Given the description of an element on the screen output the (x, y) to click on. 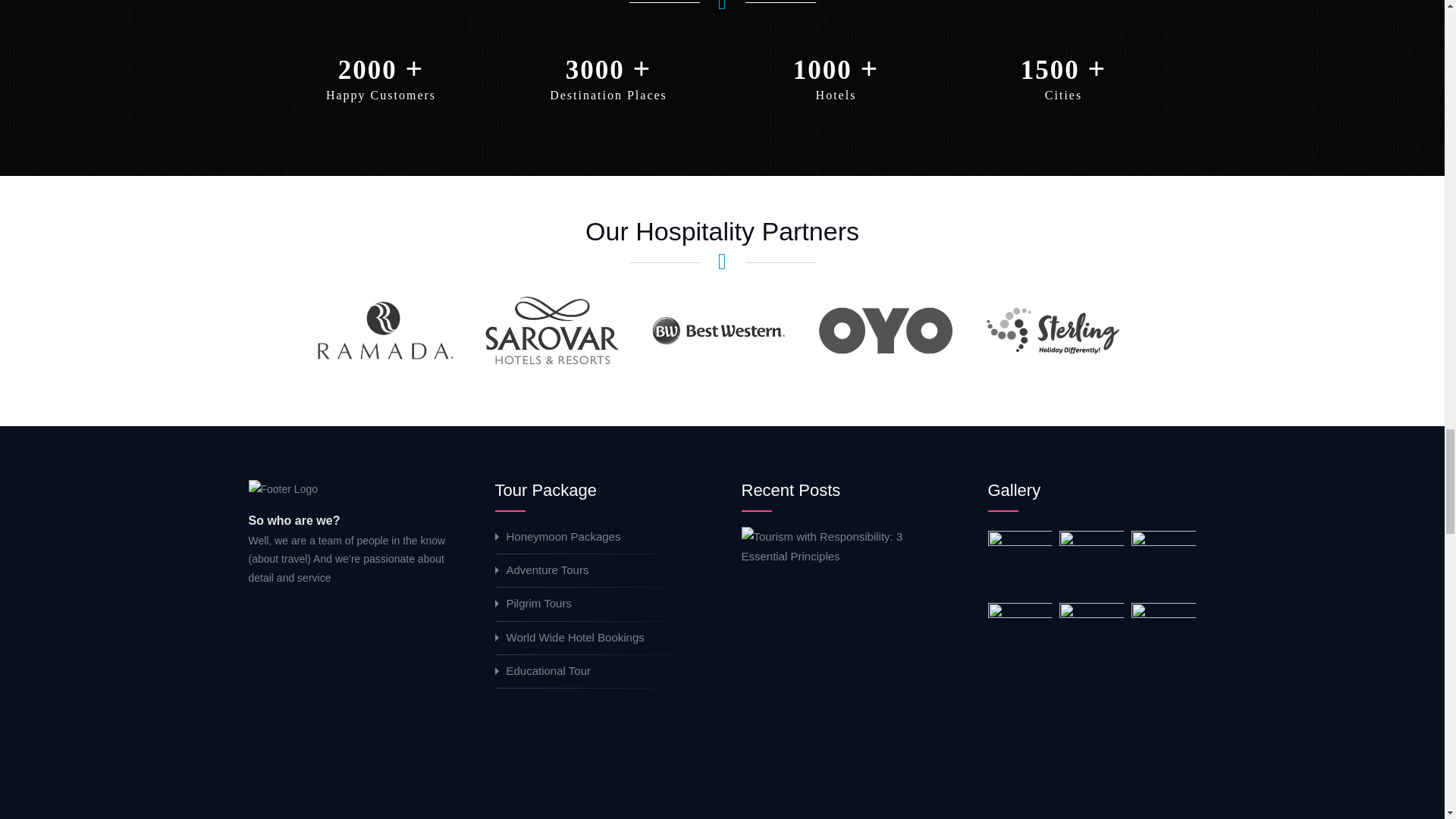
oyo (884, 330)
sarovar prtico (551, 330)
best western (718, 330)
ramada (384, 330)
sterling (1052, 330)
